Given the description of an element on the screen output the (x, y) to click on. 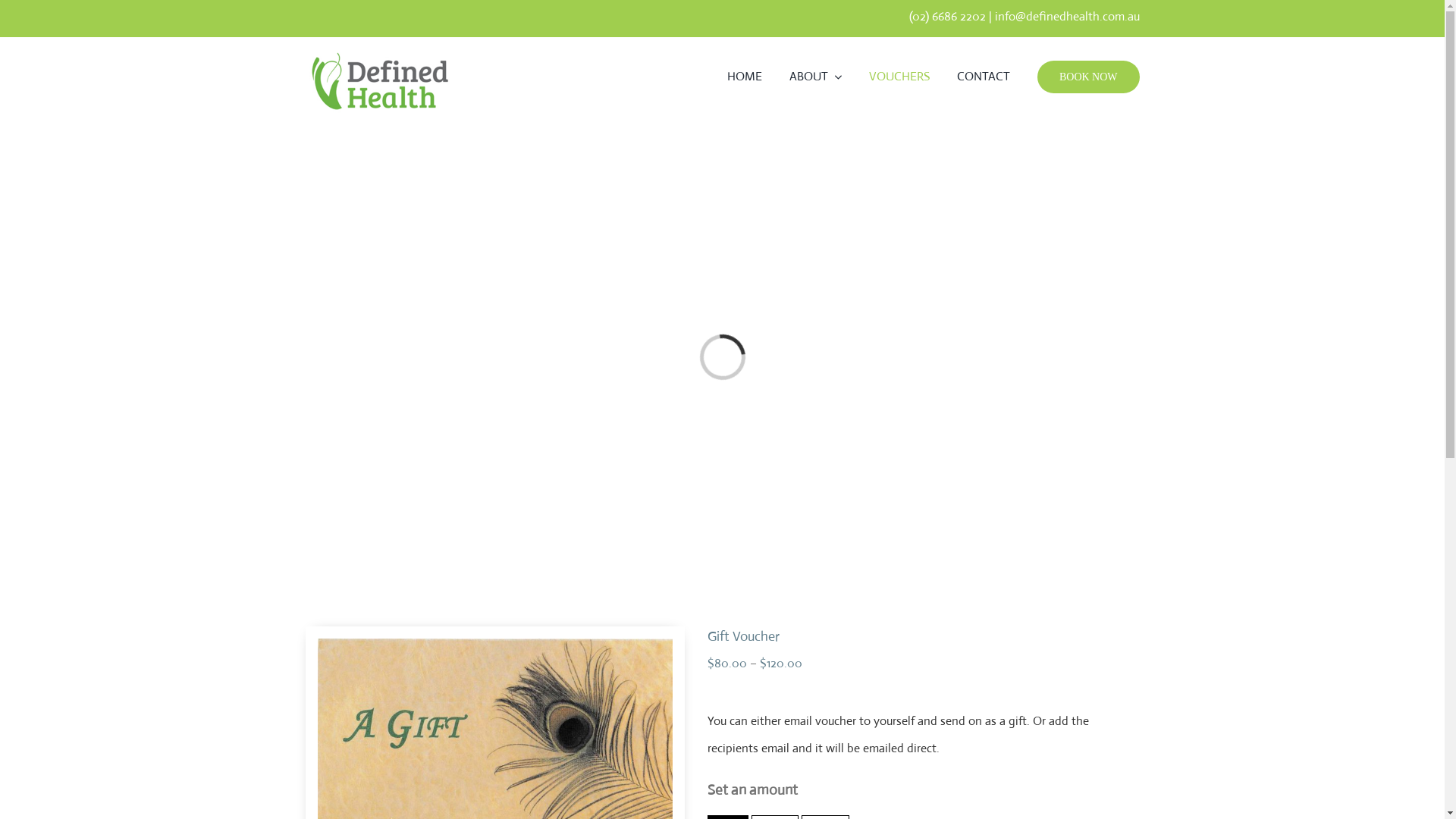
HOME Element type: text (744, 76)
BOOK NOW Element type: text (1088, 76)
CONTACT Element type: text (983, 76)
(02) 6686 2202 Element type: text (948, 16)
ABOUT Element type: text (815, 76)
info@definedhealth.com.au Element type: text (1066, 16)
VOUCHERS Element type: text (899, 76)
